Given the description of an element on the screen output the (x, y) to click on. 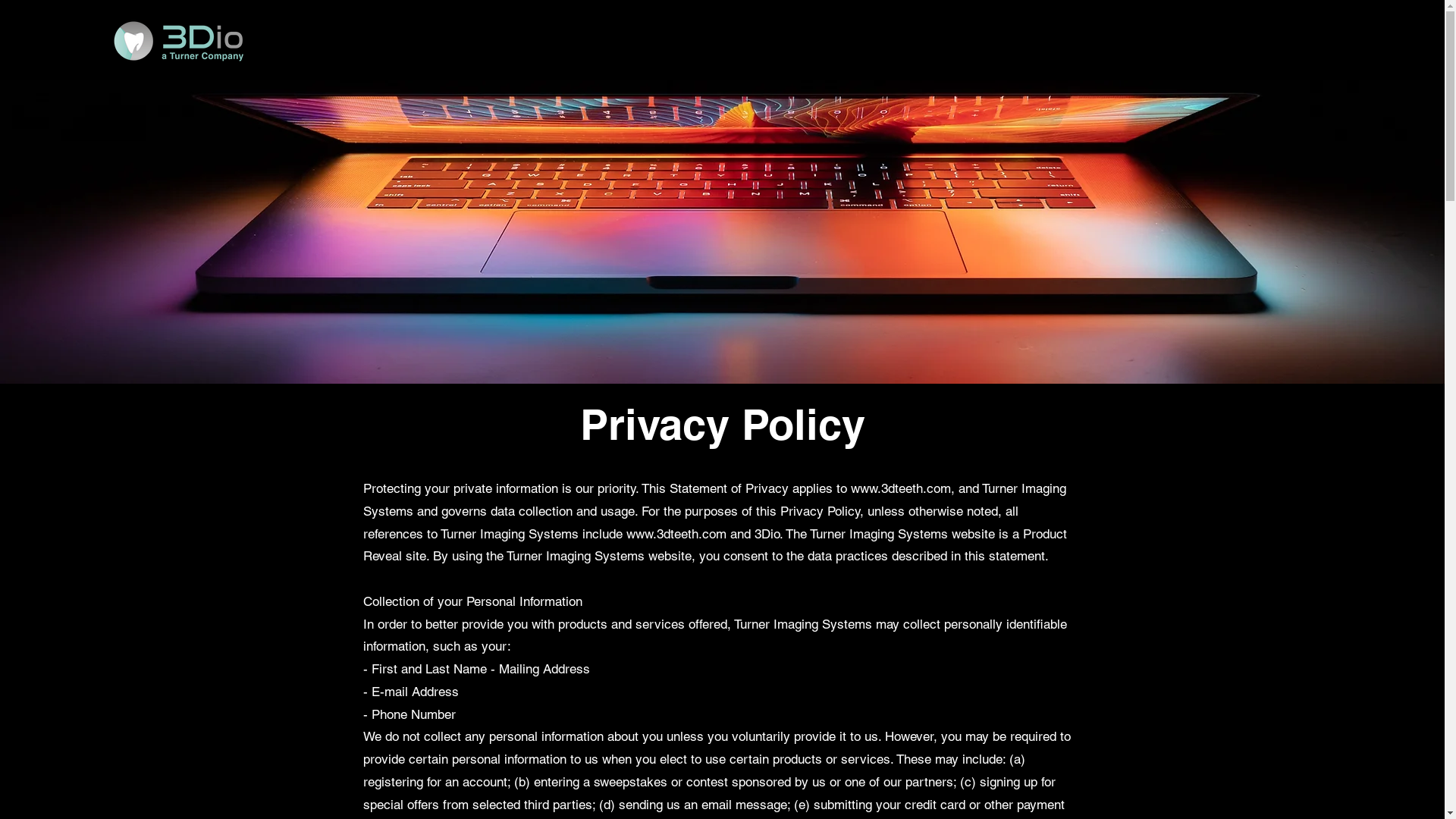
www.3dteeth.com Element type: text (676, 533)
www.3dteeth.com Element type: text (900, 487)
3Dio Logo Element type: hover (177, 41)
